Given the description of an element on the screen output the (x, y) to click on. 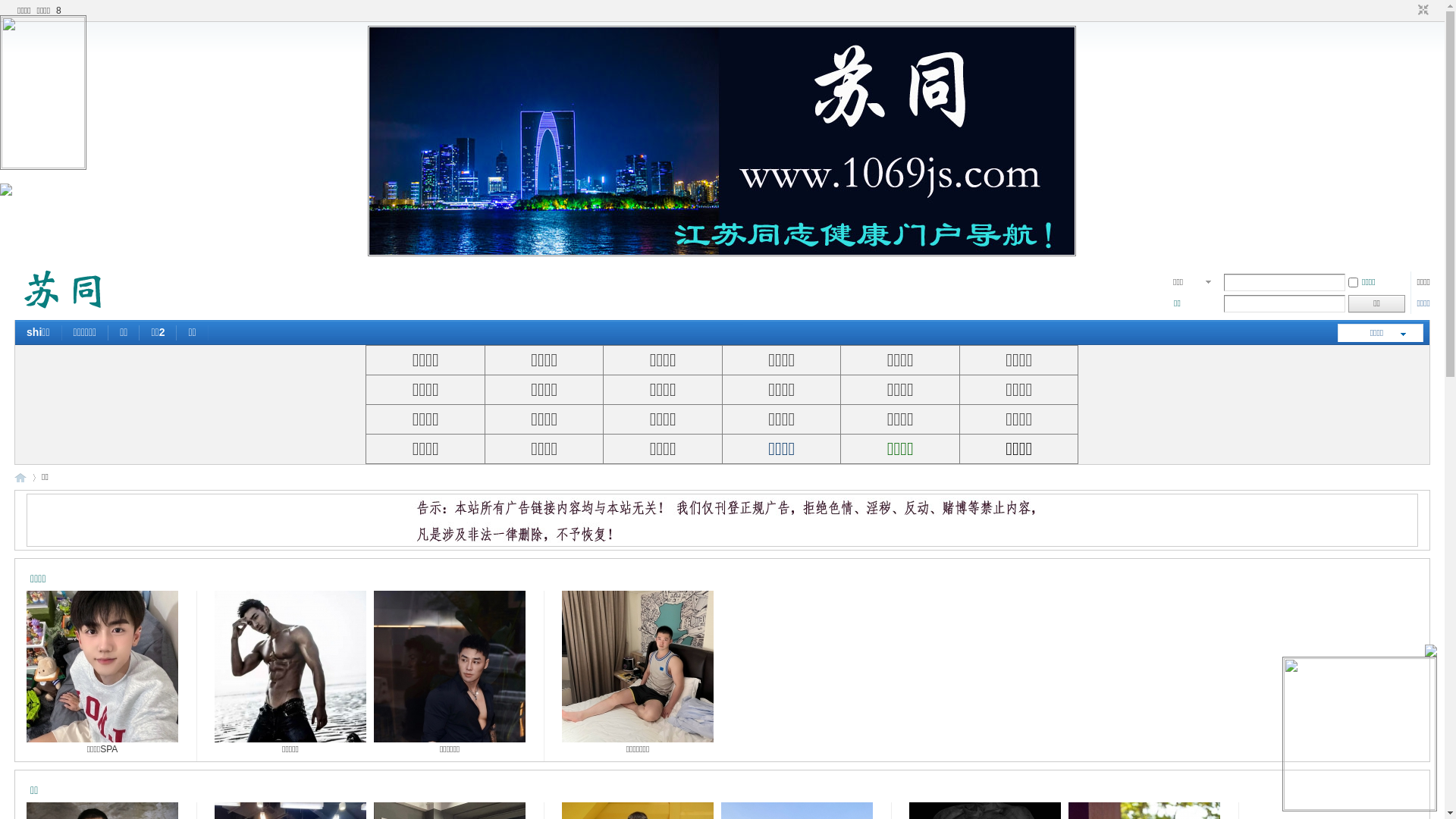
8 Element type: text (58, 10)
